Given the description of an element on the screen output the (x, y) to click on. 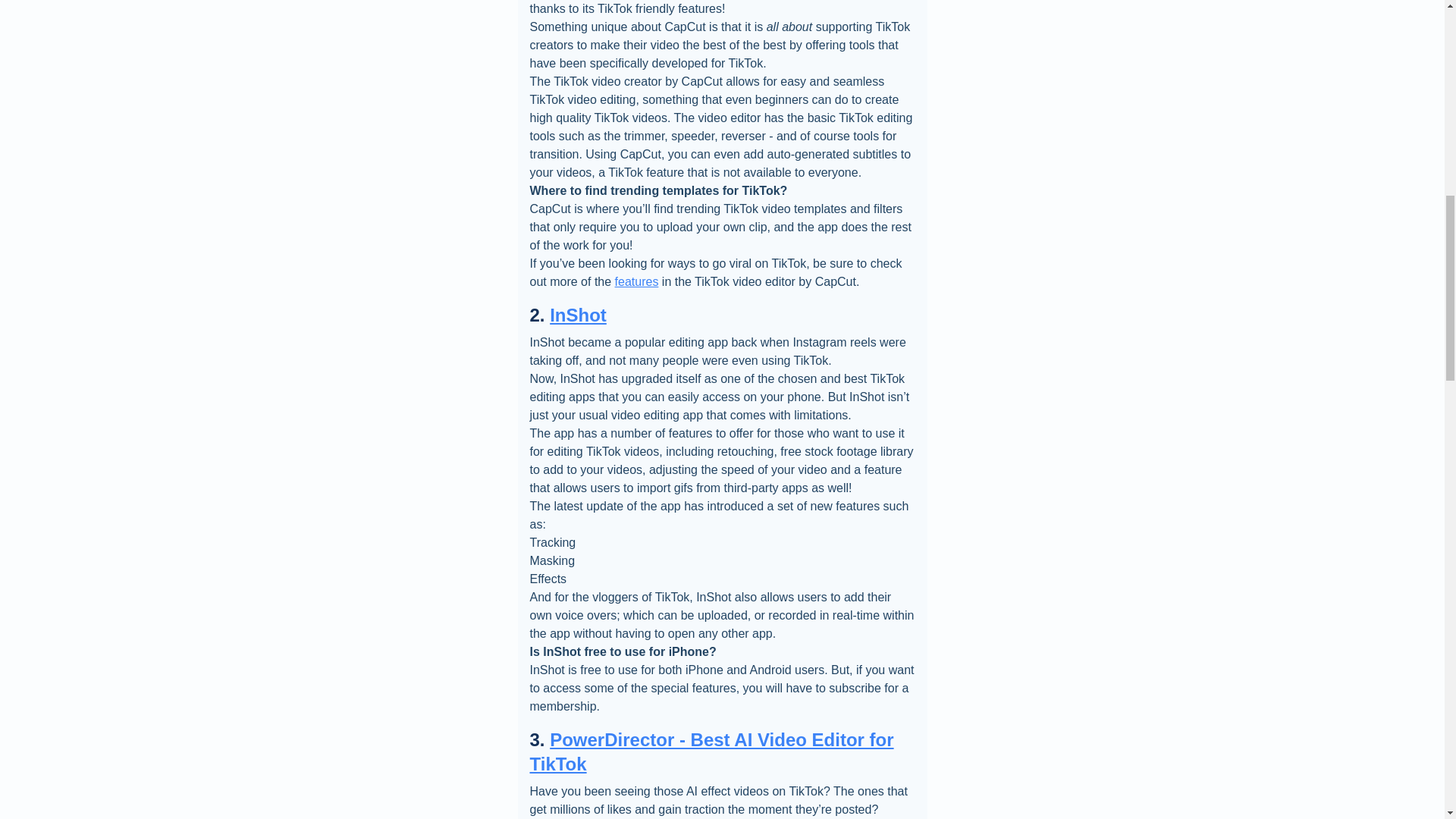
PowerDirector - Best AI Video Editor for TikTok (711, 751)
InShot (578, 314)
features (636, 281)
